Given the description of an element on the screen output the (x, y) to click on. 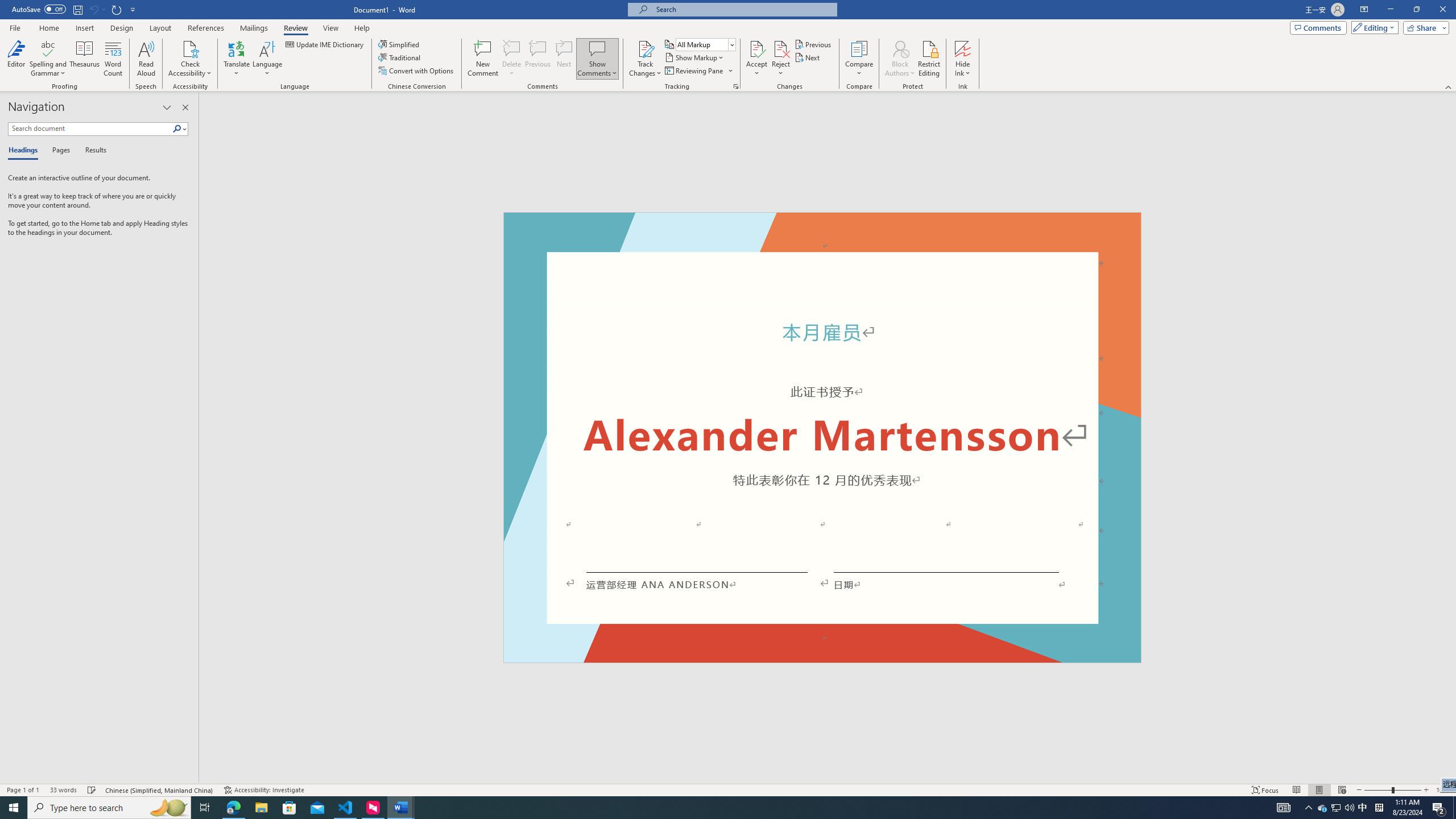
Language (267, 58)
Insert (83, 28)
Zoom (1392, 790)
Spelling and Grammar Check Checking (91, 790)
Microsoft search (742, 9)
Close pane (185, 107)
Next (808, 56)
Mode (1372, 27)
Search document (89, 128)
Headings (25, 150)
Minimize (1390, 9)
Show Comments (597, 58)
Quick Access Toolbar (74, 9)
